Given the description of an element on the screen output the (x, y) to click on. 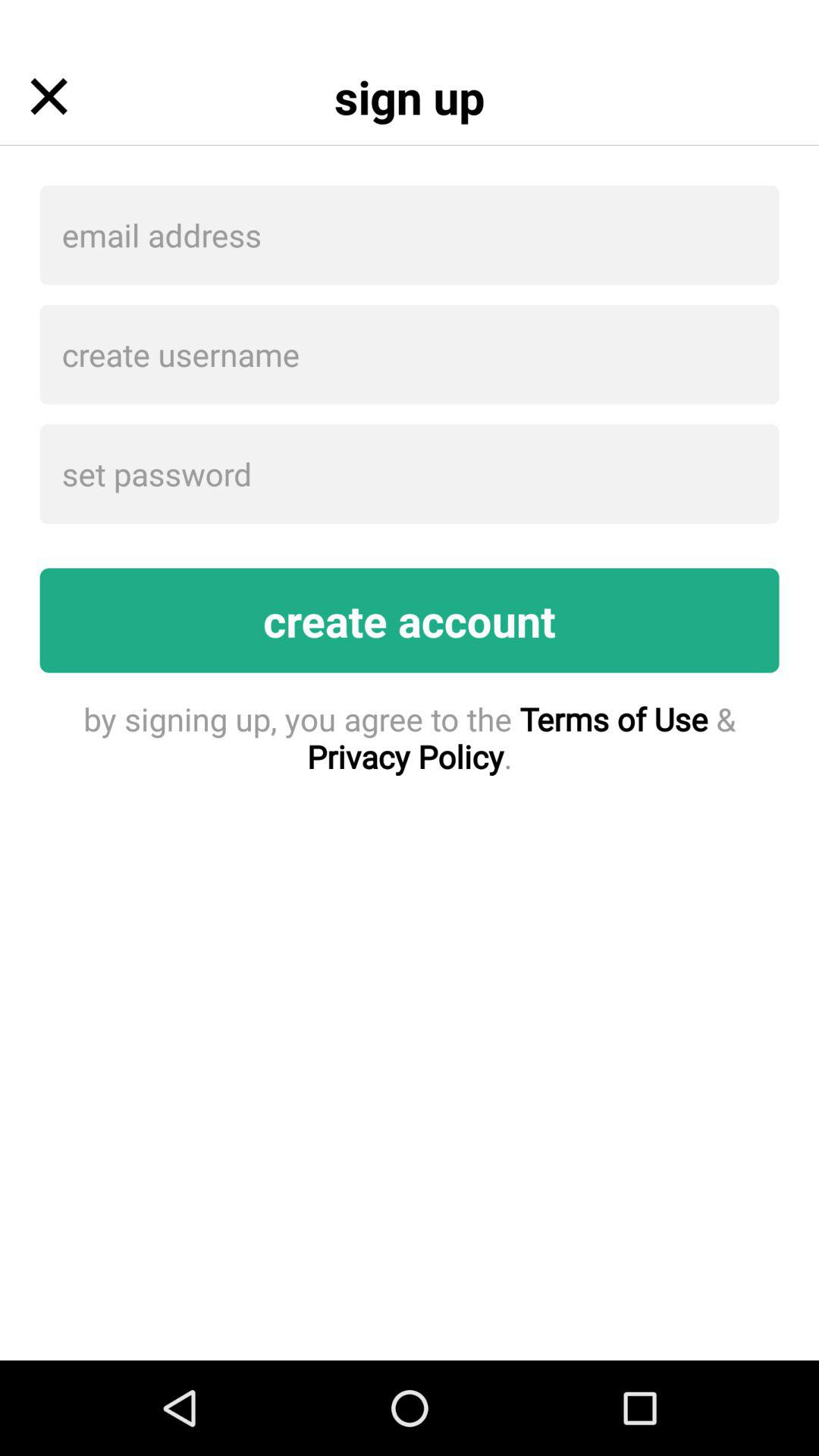
turn off item below the sign up item (409, 234)
